Given the description of an element on the screen output the (x, y) to click on. 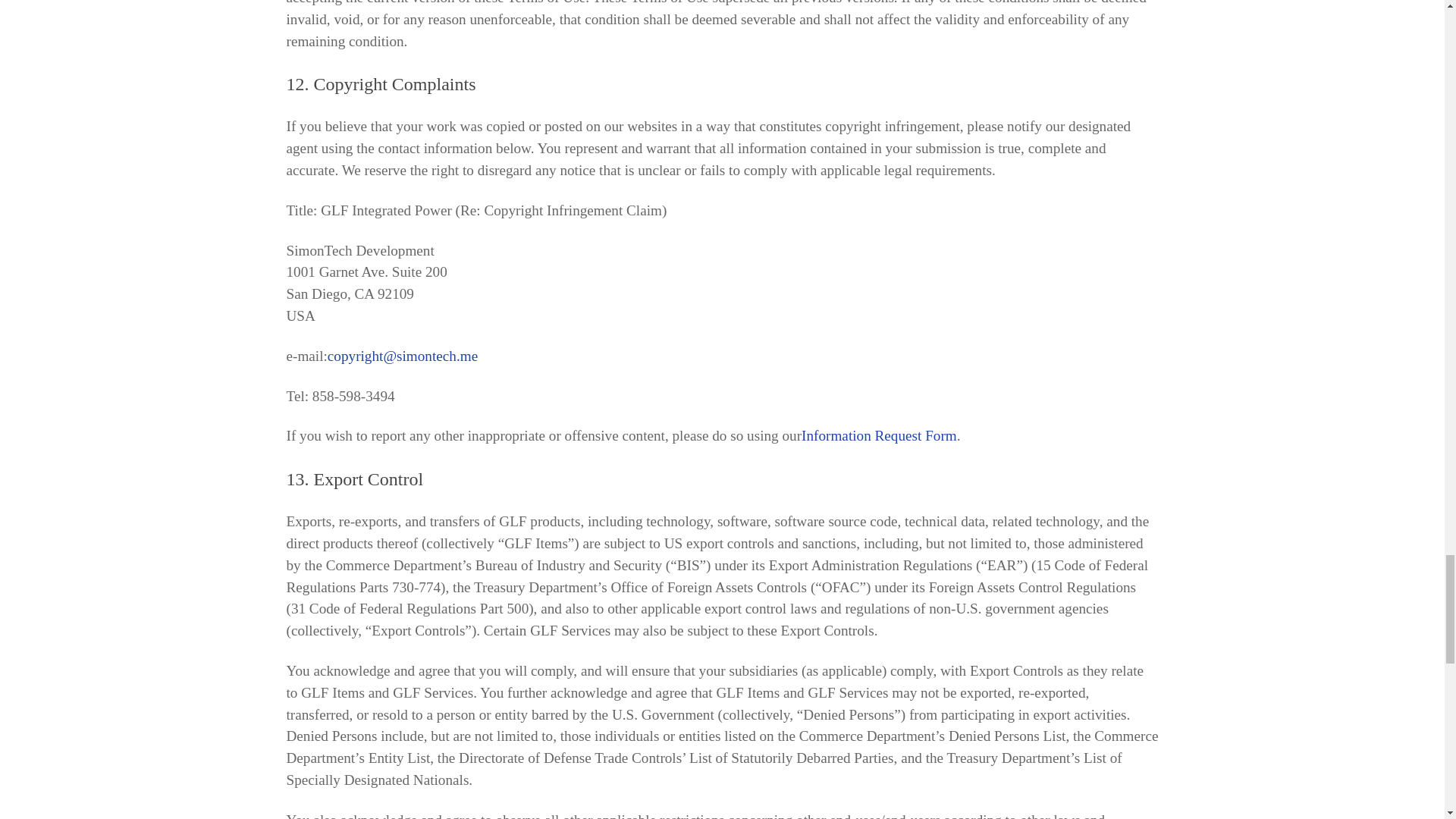
Information Request Form (879, 436)
